Given the description of an element on the screen output the (x, y) to click on. 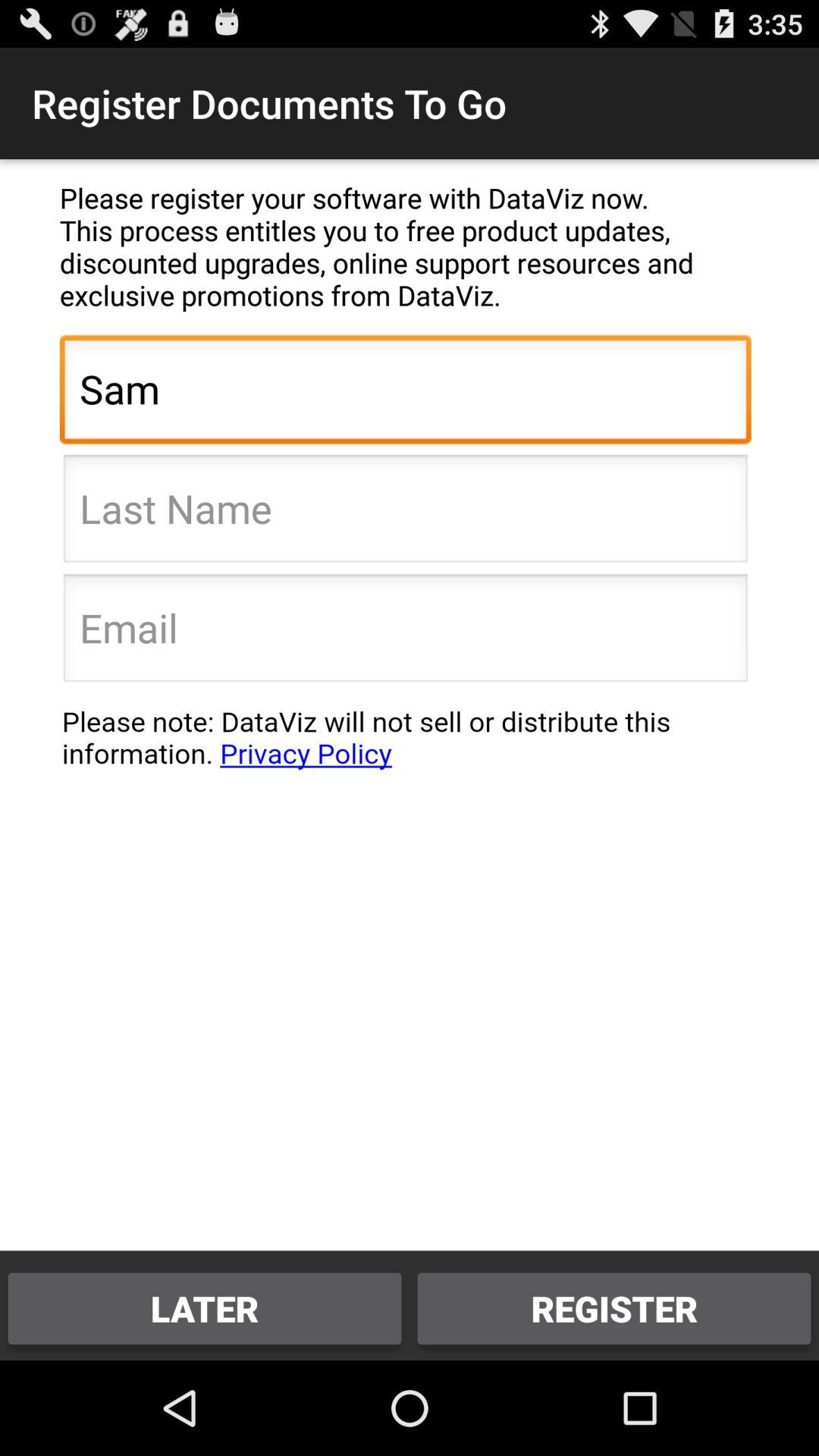
open privacy policy (405, 745)
